Given the description of an element on the screen output the (x, y) to click on. 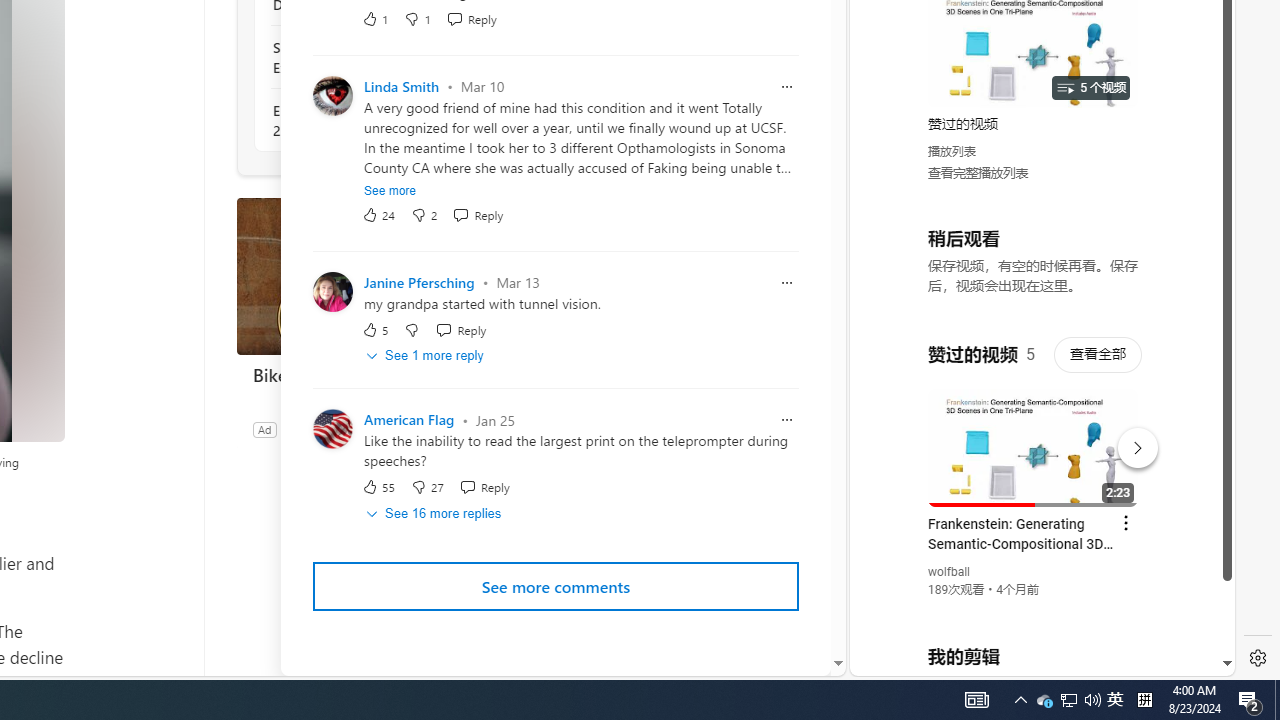
Actions for this site (1131, 443)
